Given the description of an element on the screen output the (x, y) to click on. 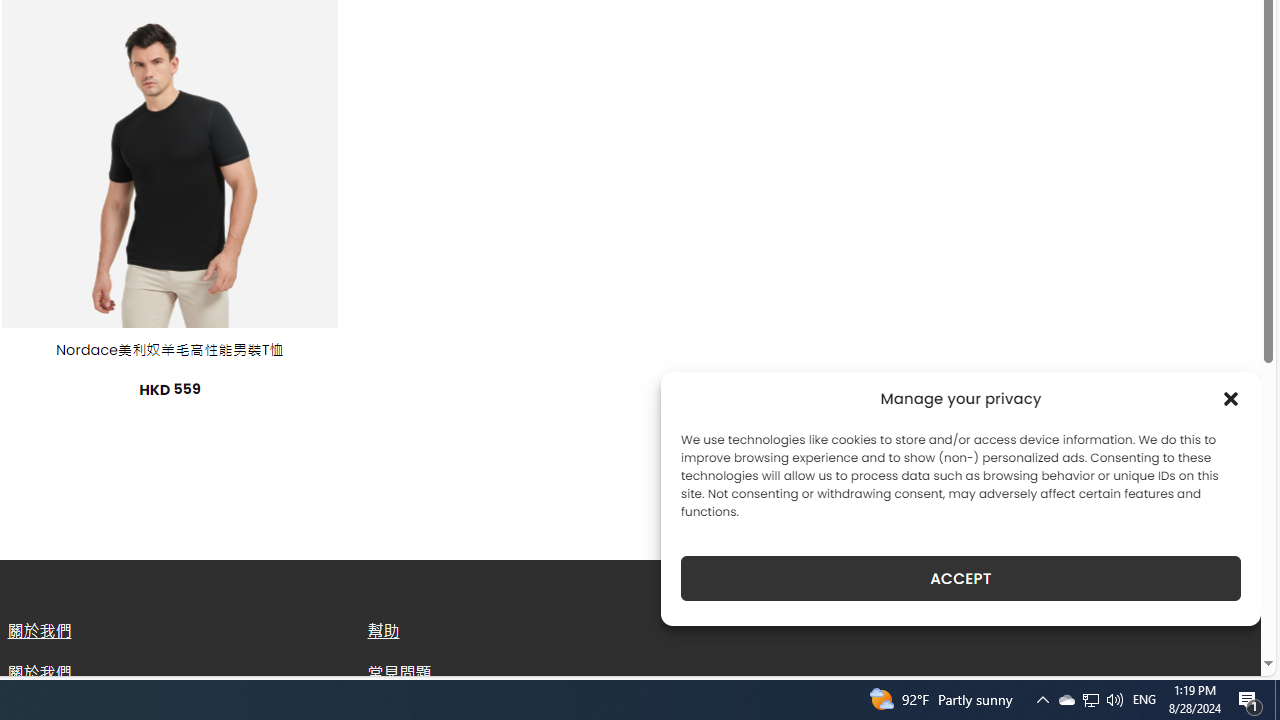
ACCEPT (960, 578)
Go to top (1220, 647)
Class: cmplz-close (1231, 398)
